Given the description of an element on the screen output the (x, y) to click on. 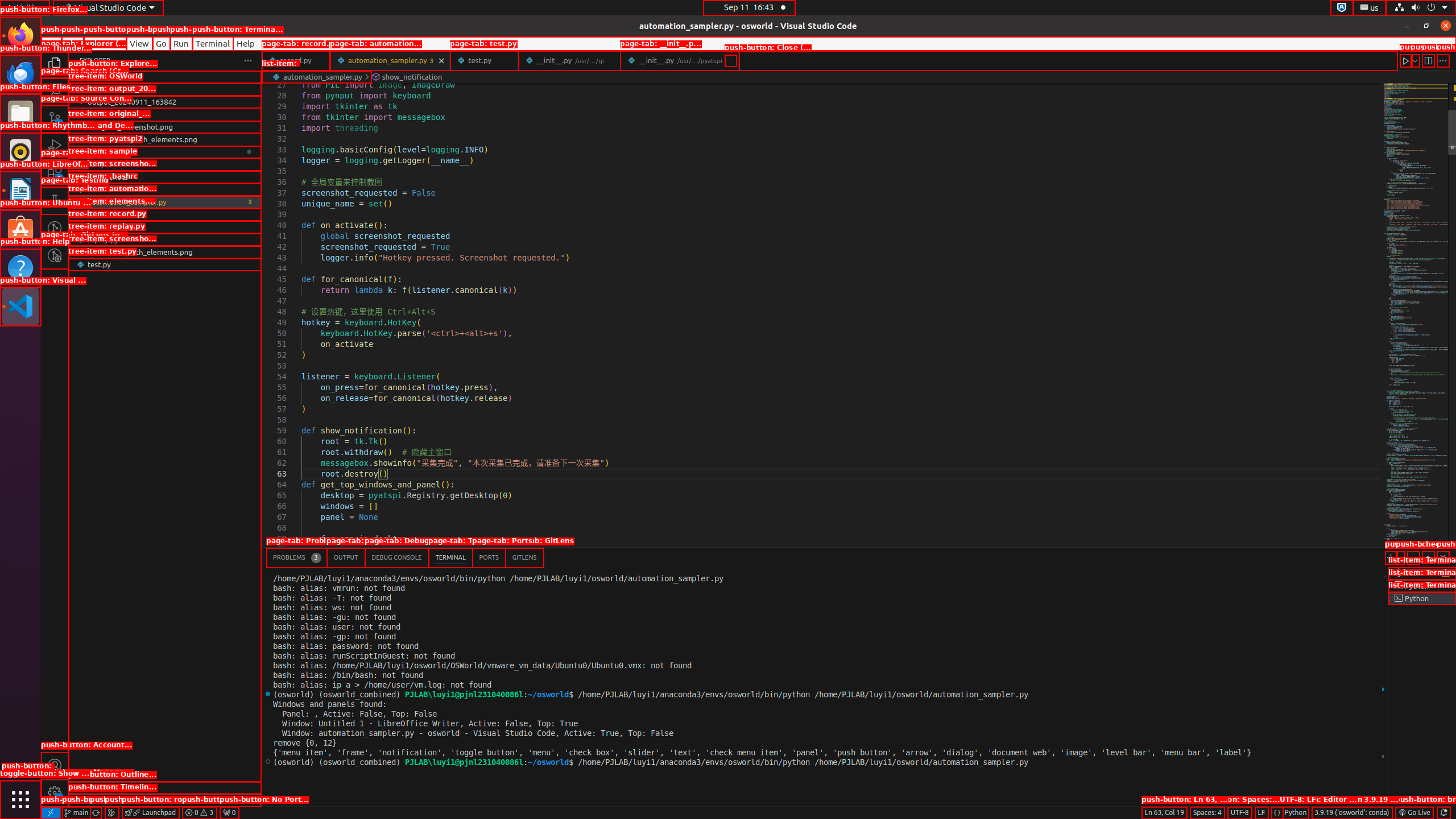
View Element type: push-button (139, 43)
Hide Panel Element type: push-button (1442, 557)
Ports Element type: page-tab (488, 557)
record.py Element type: page-tab (295, 60)
No Ports Forwarded Element type: push-button (228, 812)
